Given the description of an element on the screen output the (x, y) to click on. 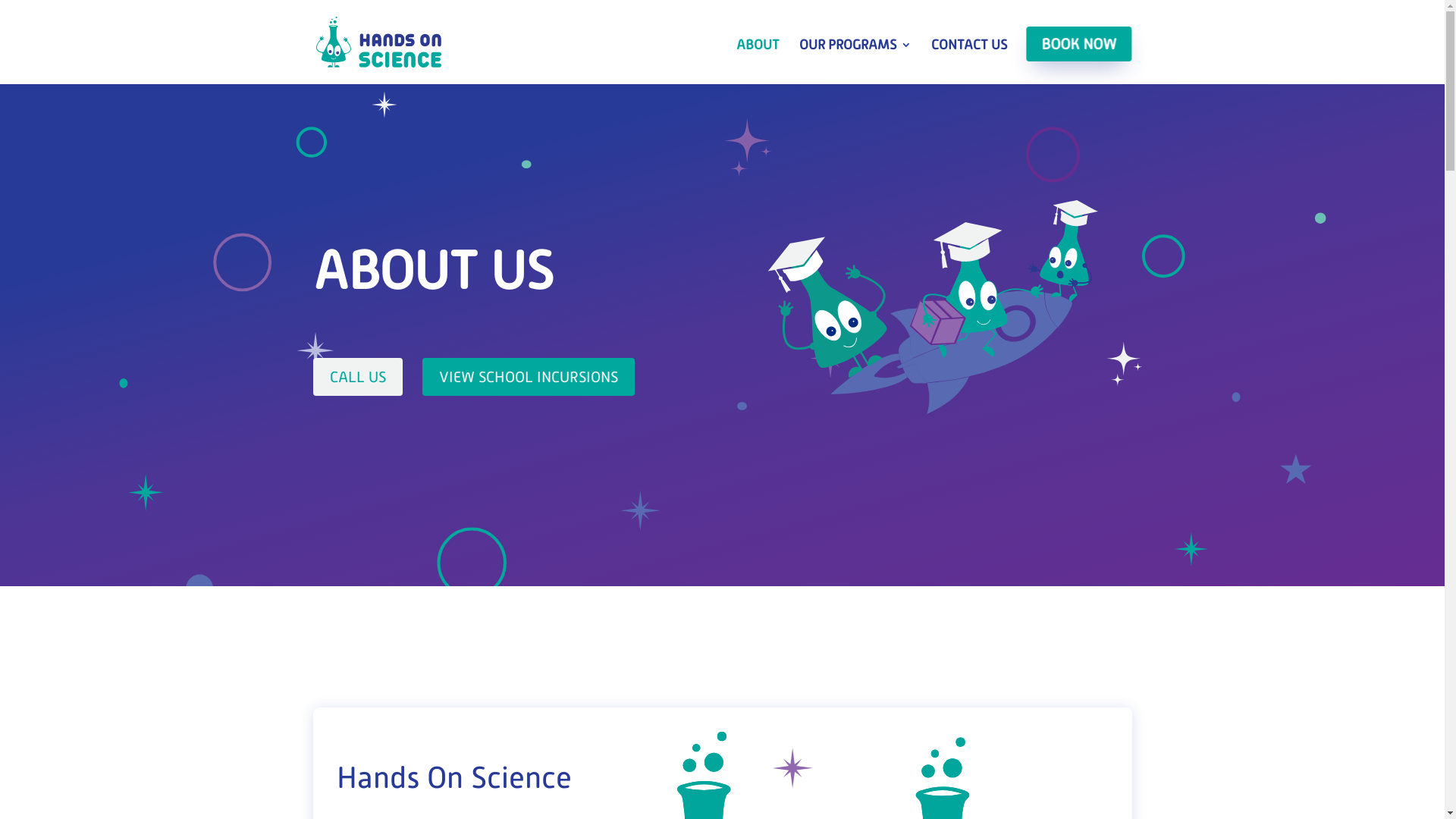
VIEW SCHOOL INCURSIONS Element type: text (528, 376)
BOOK NOW Element type: text (1078, 43)
CALL US Element type: text (356, 376)
CONTACT US Element type: text (969, 57)
OUR PROGRAMS Element type: text (855, 57)
hero-about-bg-02 Element type: hover (933, 307)
ABOUT Element type: text (756, 57)
